Given the description of an element on the screen output the (x, y) to click on. 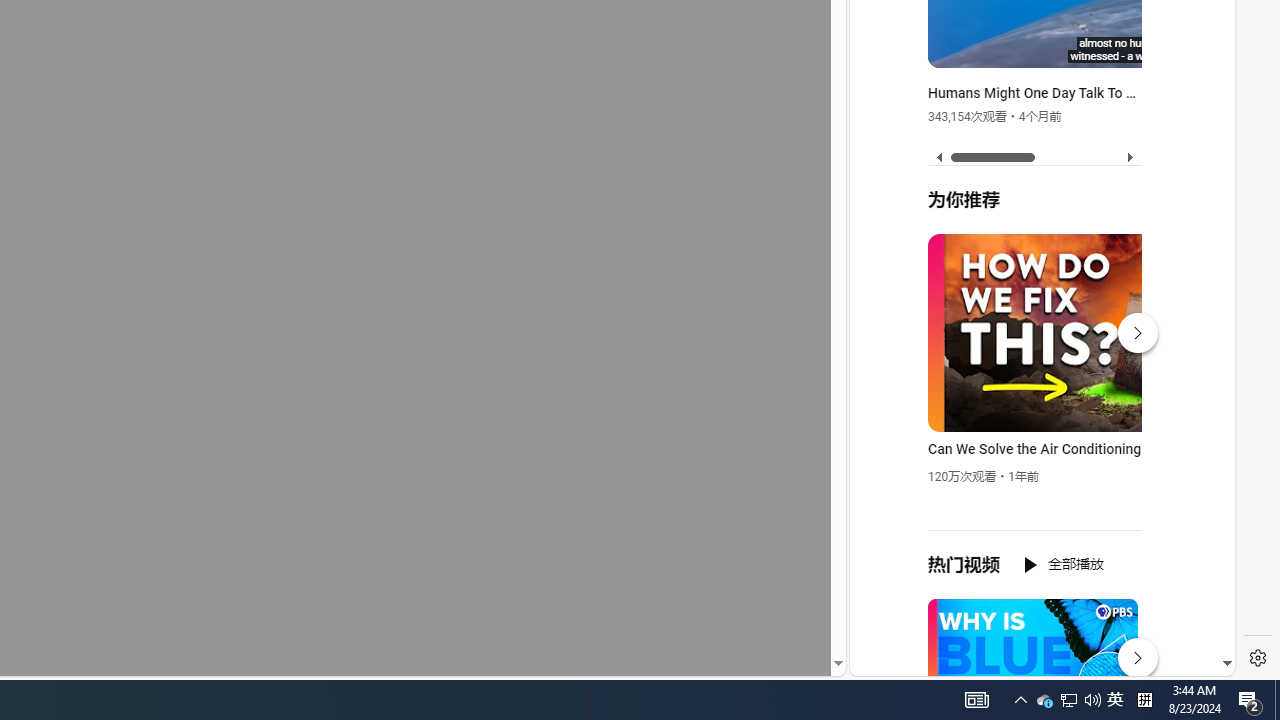
Actions for this site (1131, 443)
Humans Might One Day Talk To Whales. What Should We Say? (1036, 93)
#you (1034, 439)
you (1034, 609)
Class: dict_pnIcon rms_img (1028, 660)
YouTube - YouTube (1034, 266)
